Given the description of an element on the screen output the (x, y) to click on. 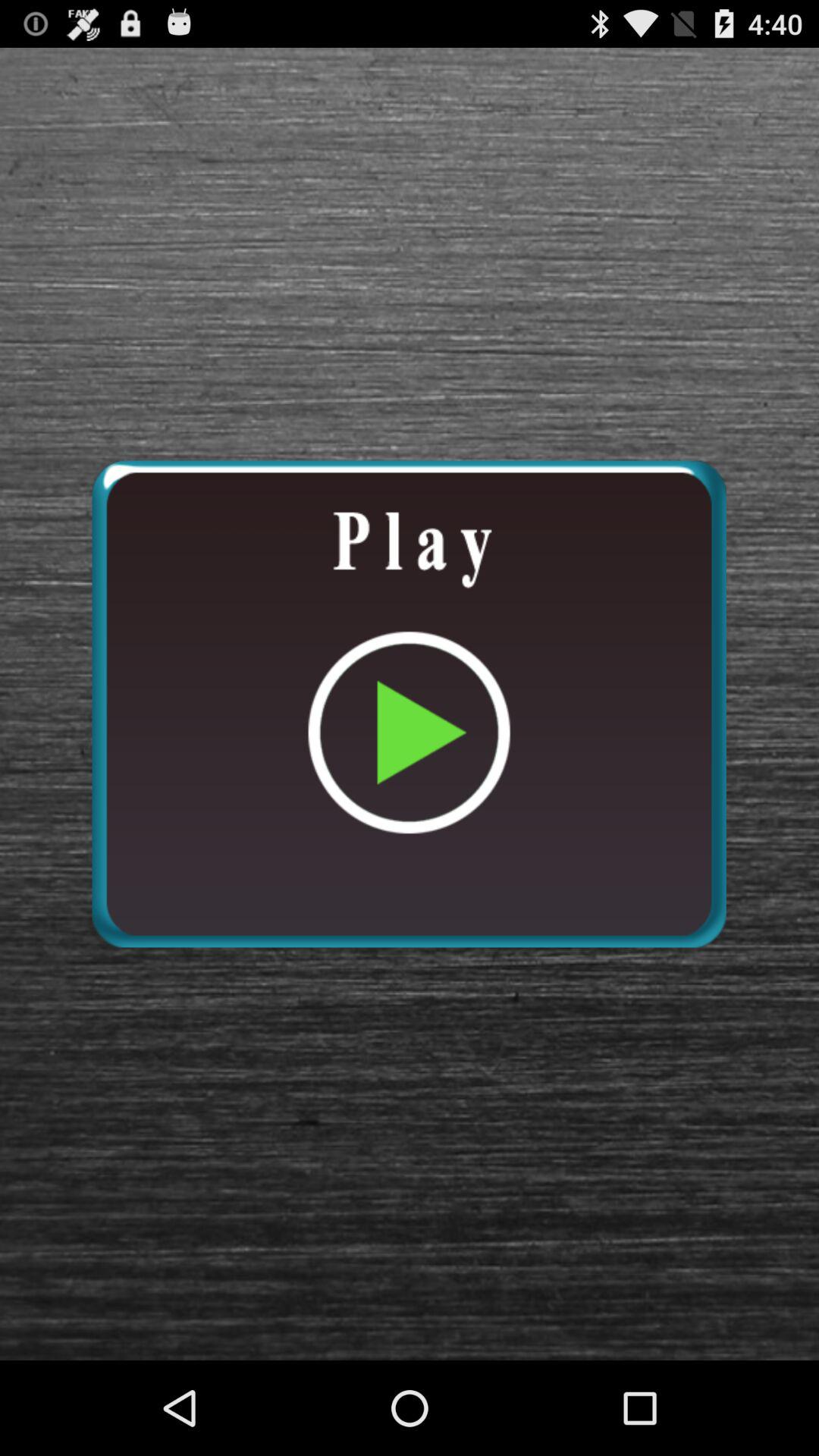
select the audio play (409, 703)
